Given the description of an element on the screen output the (x, y) to click on. 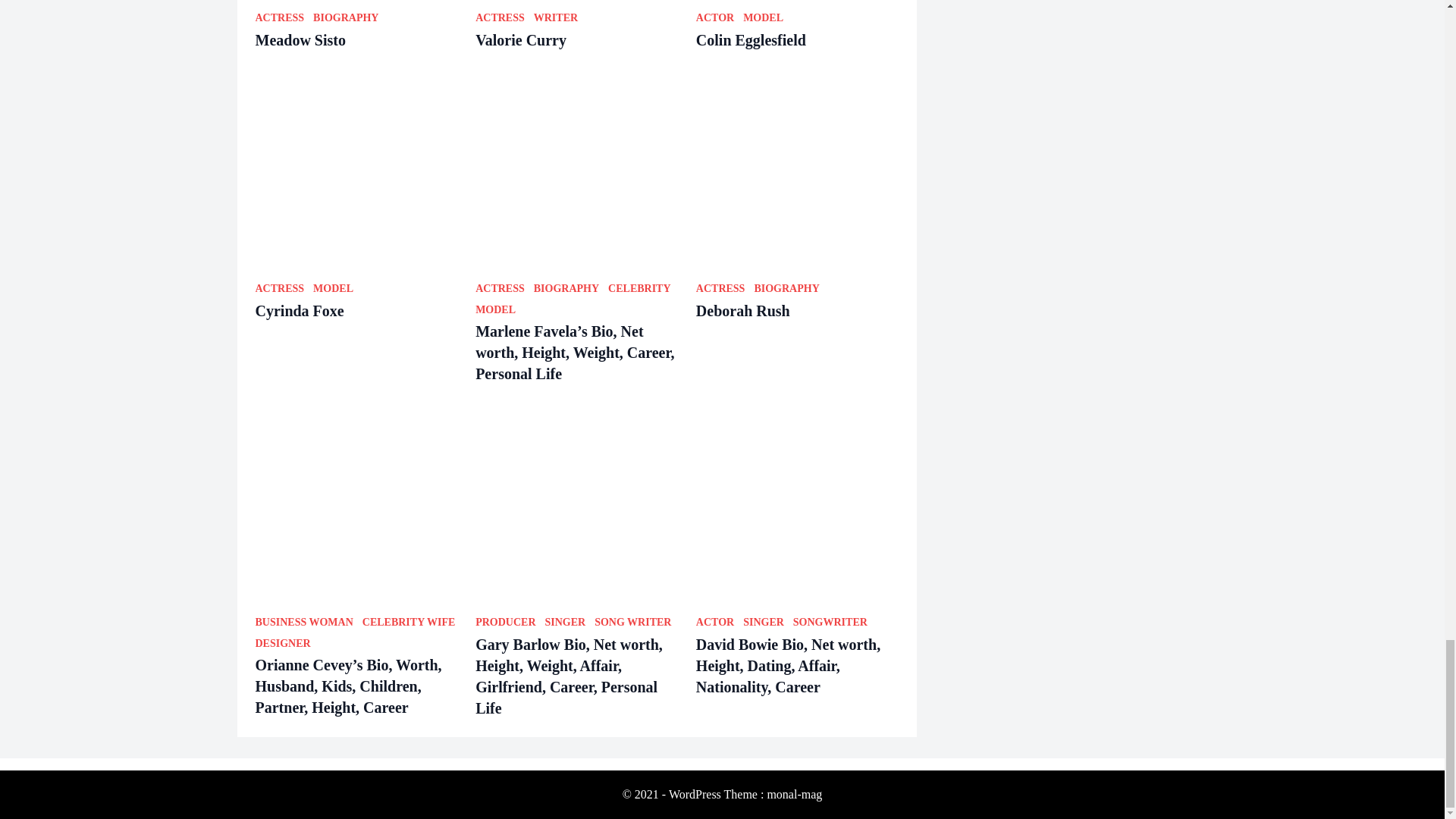
ACTRESS (279, 17)
